Given the description of an element on the screen output the (x, y) to click on. 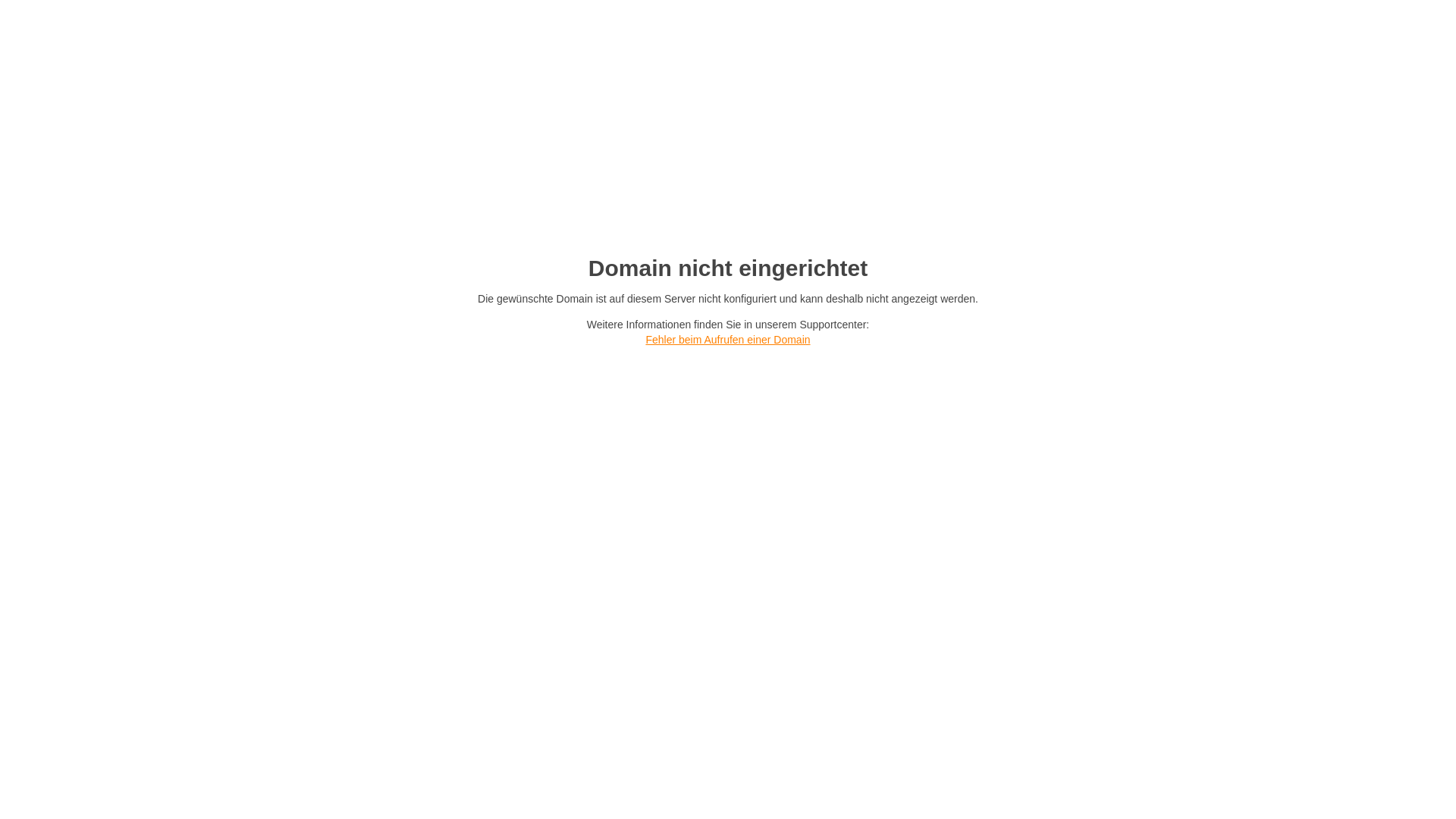
Fehler beim Aufrufen einer Domain Element type: text (727, 339)
